Given the description of an element on the screen output the (x, y) to click on. 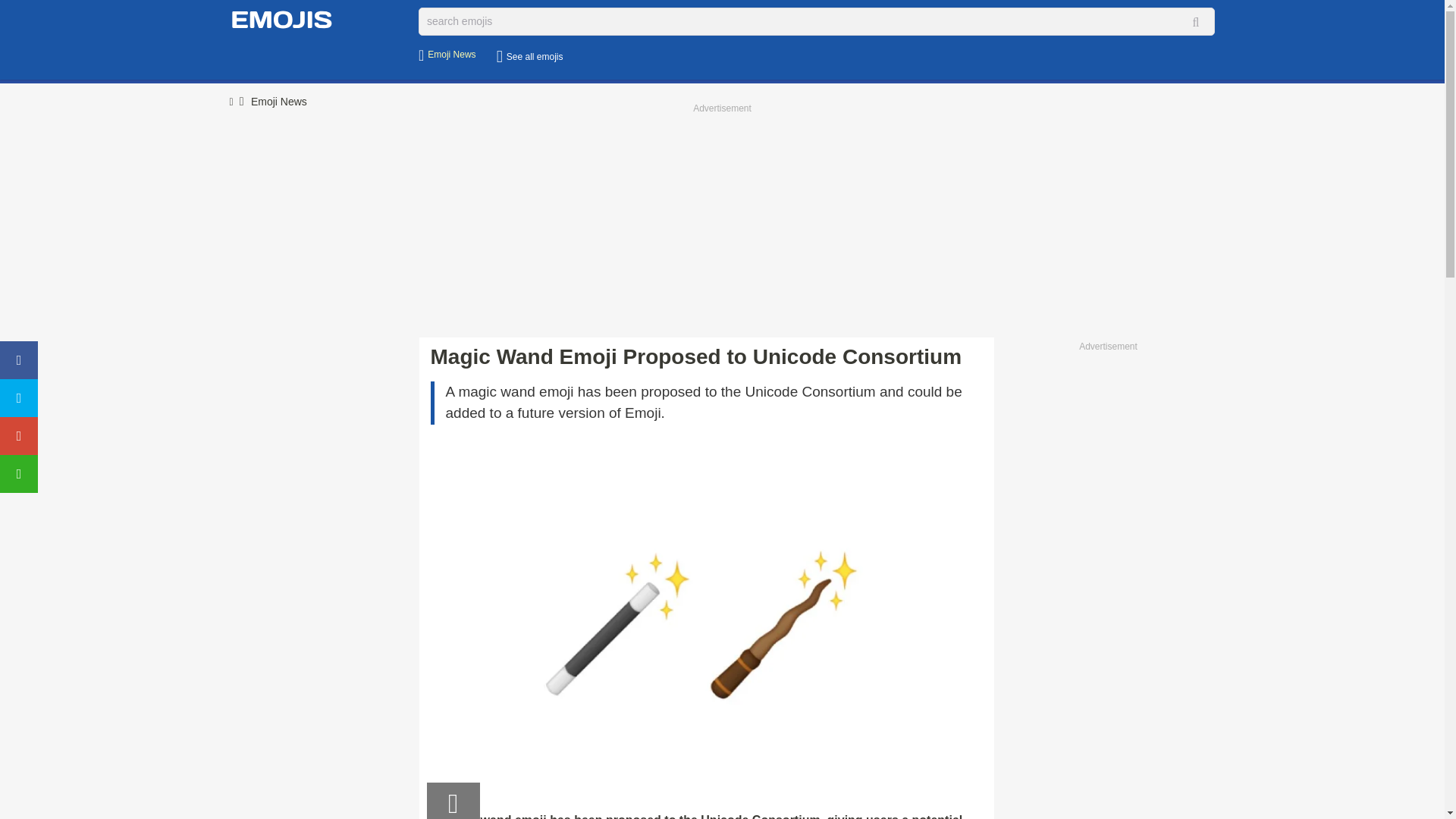
See all emojis (532, 57)
Advertisement (722, 223)
Emoji News (278, 101)
Emoji News (449, 55)
Advertisement (1107, 582)
